Given the description of an element on the screen output the (x, y) to click on. 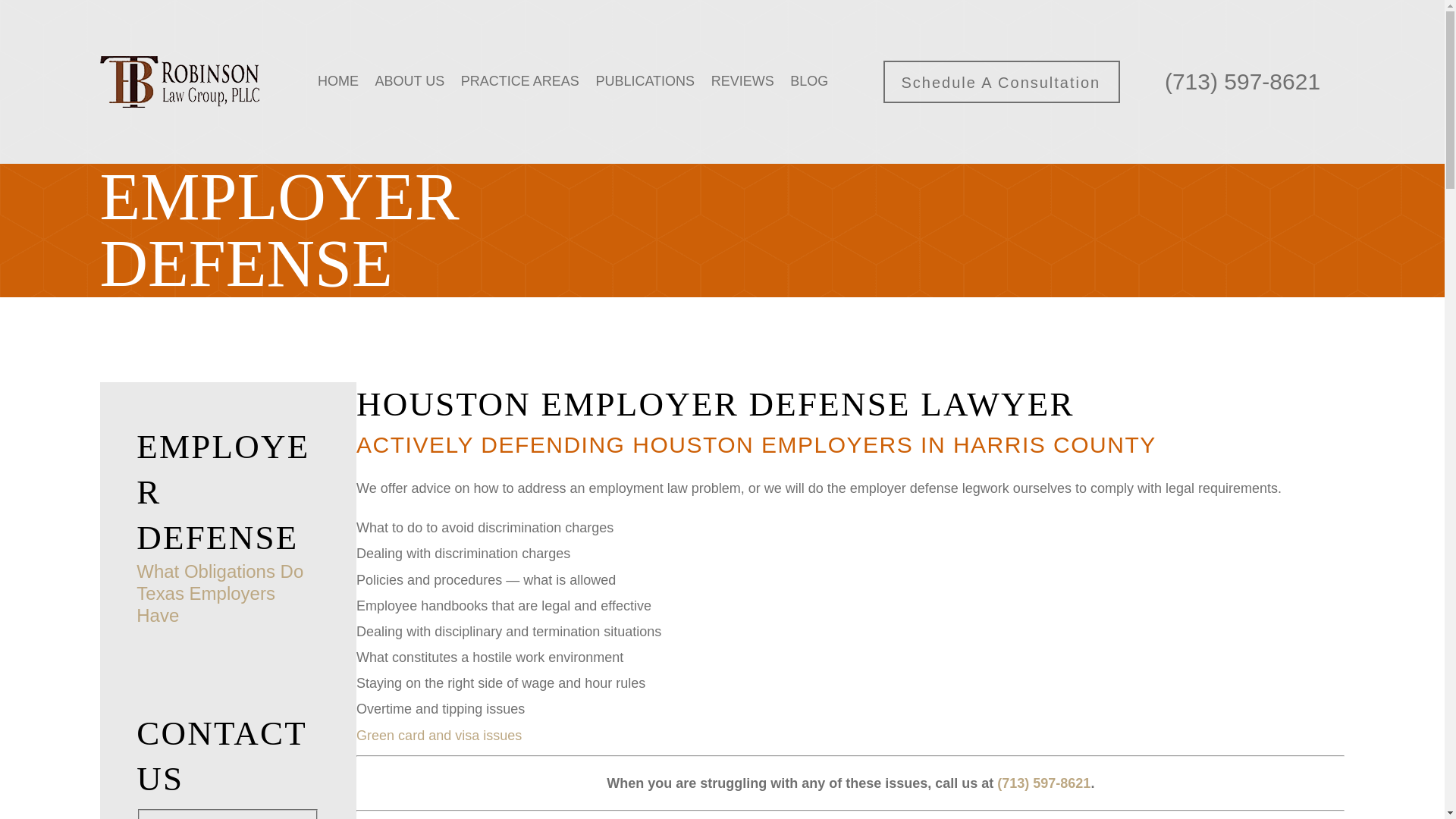
PRACTICE AREAS (520, 81)
Open the accessibility options menu (1423, 798)
TB Robinson Law Group, PLLC (179, 81)
ABOUT US (409, 81)
HOME (337, 81)
